Given the description of an element on the screen output the (x, y) to click on. 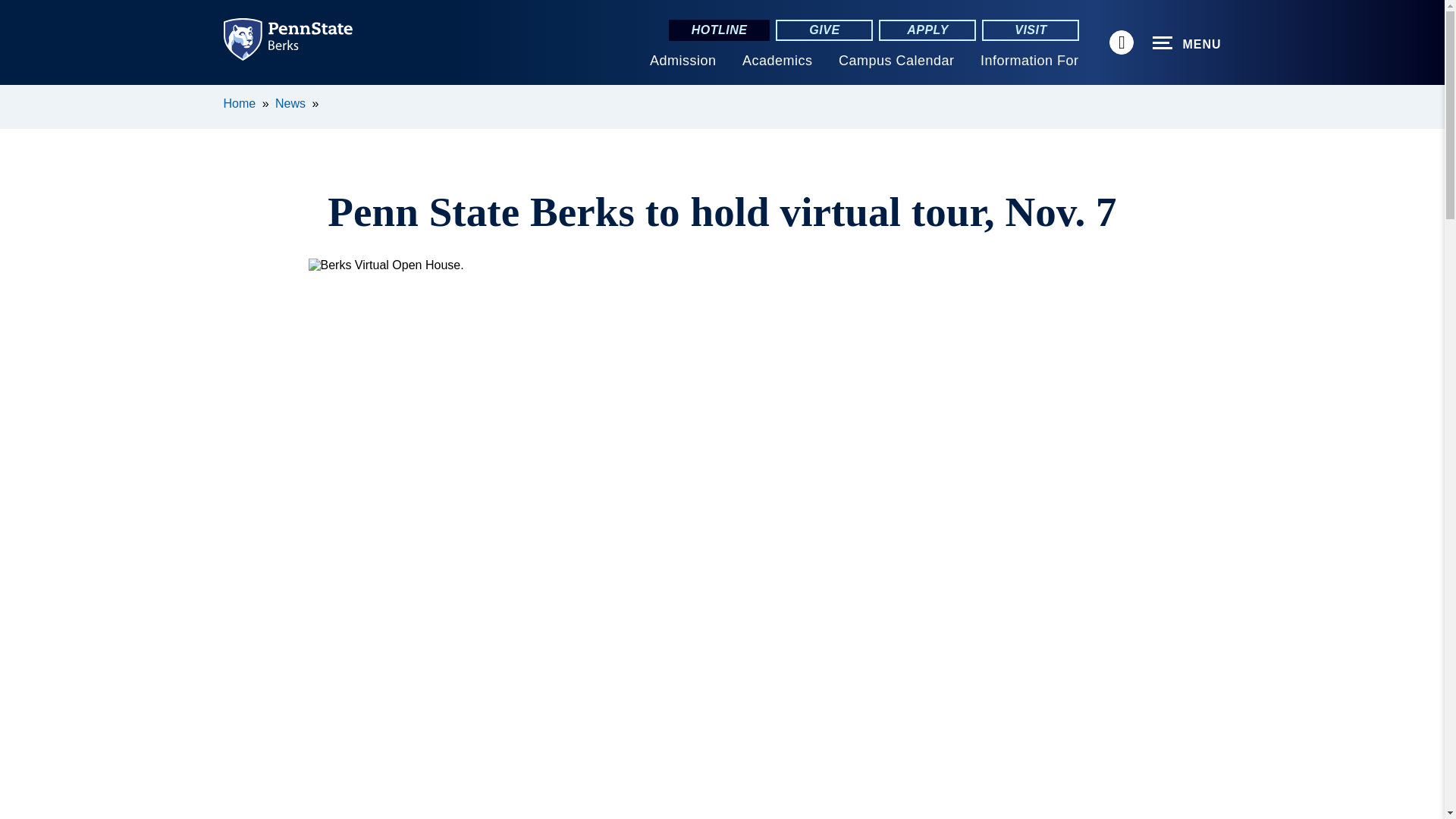
Academics (777, 60)
MENU (1187, 43)
Admission (682, 60)
SKIP TO MAIN CONTENT (19, 95)
APPLY (927, 29)
VISIT (1029, 29)
GIVE (824, 29)
Campus Calendar (896, 60)
Information For (1028, 60)
HOTLINE (719, 29)
